Given the description of an element on the screen output the (x, y) to click on. 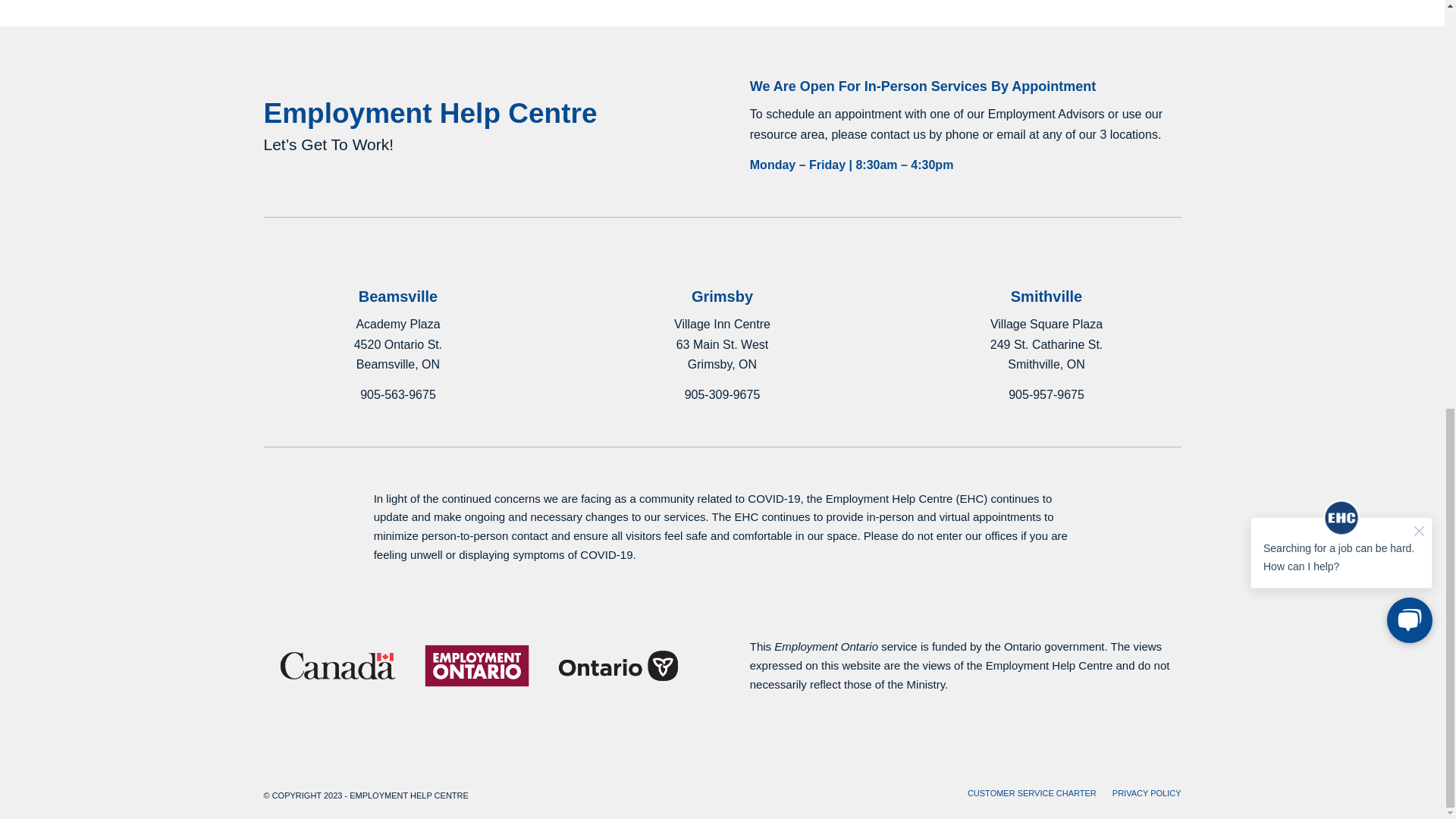
PRIVACY POLICY (1146, 792)
CUSTOMER SERVICE CHARTER (1032, 792)
